Given the description of an element on the screen output the (x, y) to click on. 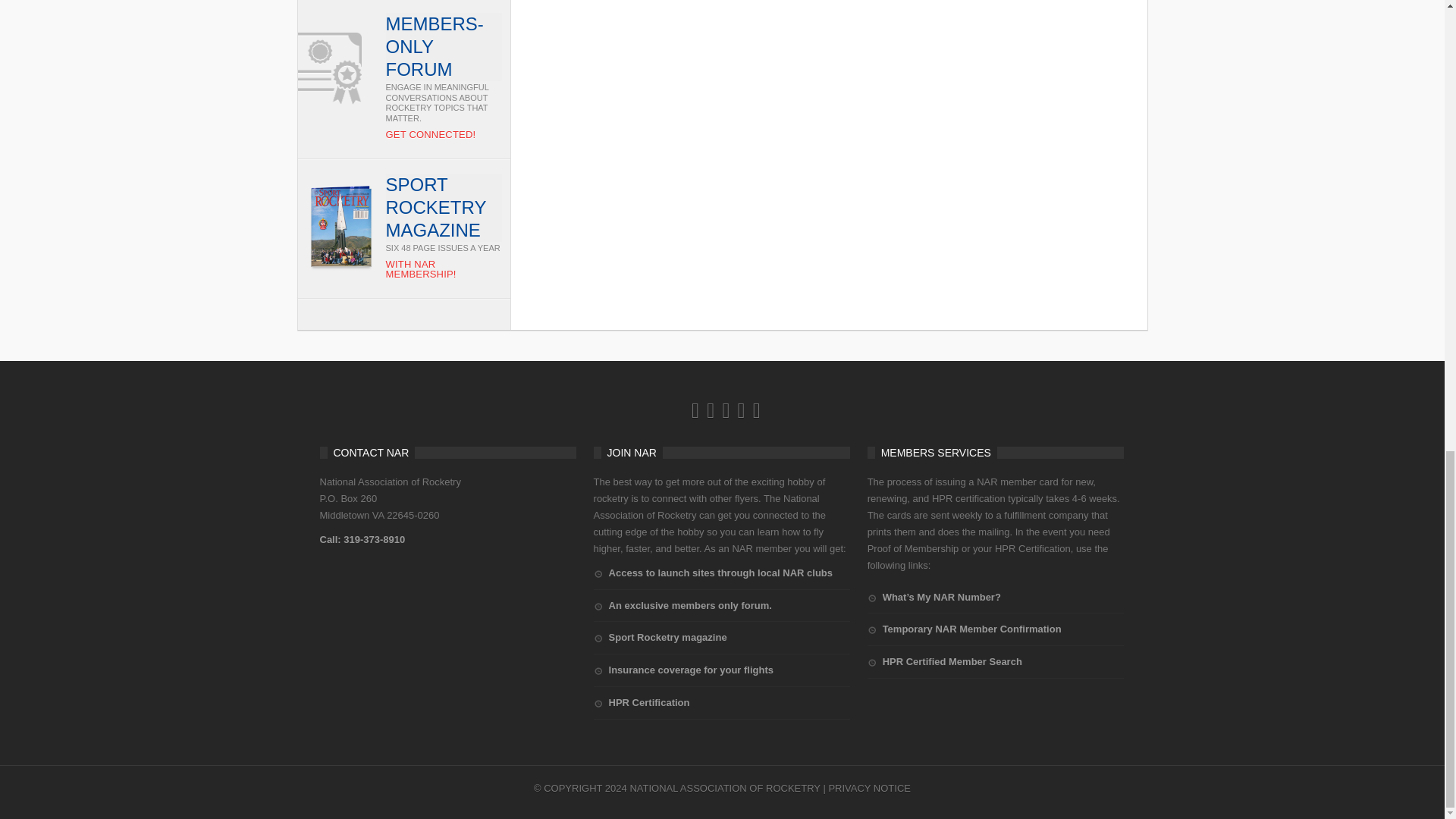
Facebook (694, 410)
Newsletter Signup (710, 410)
Insta gram (725, 410)
Twitter (741, 410)
YouTube (756, 410)
